Given the description of an element on the screen output the (x, y) to click on. 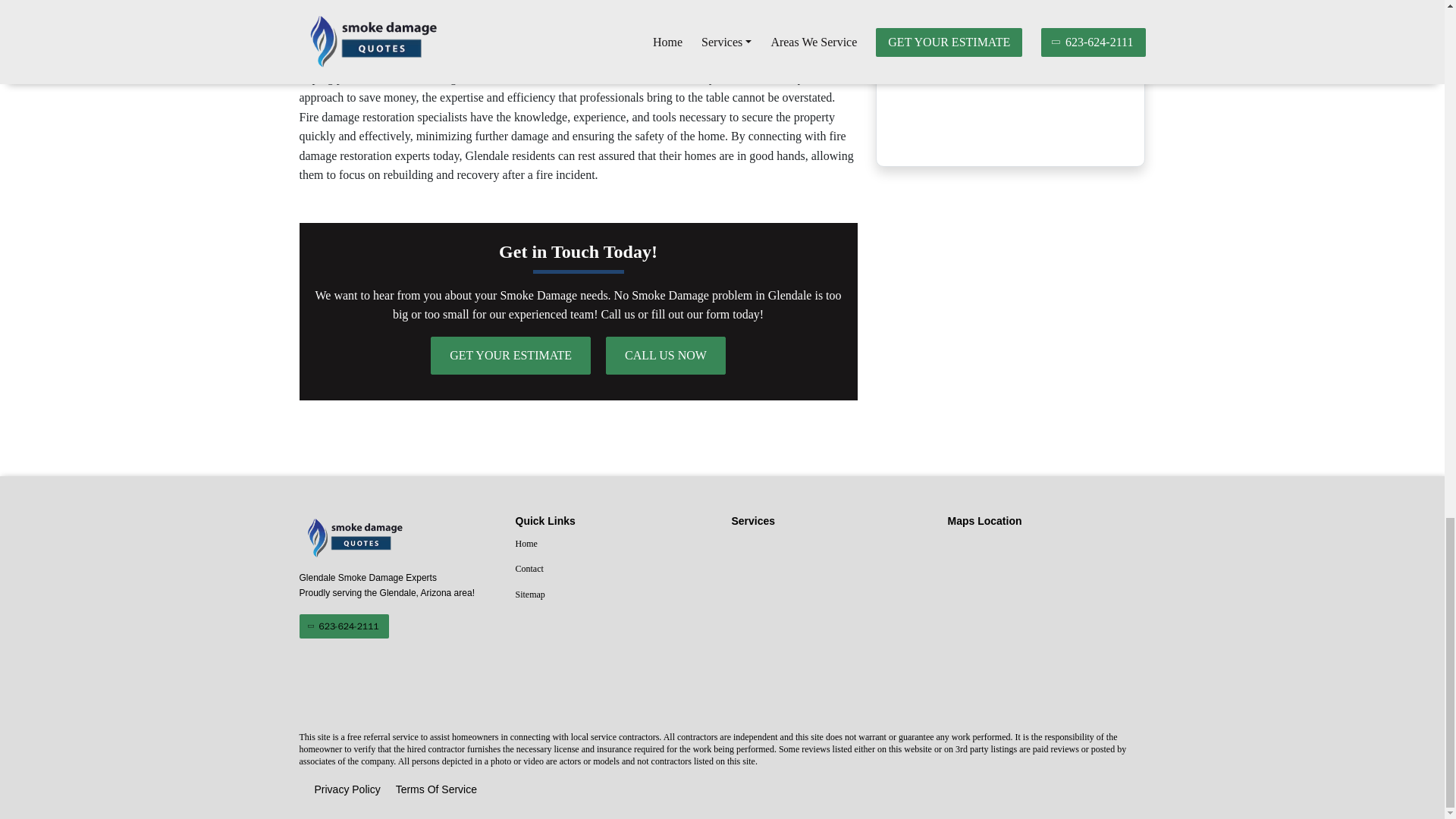
CALL US NOW (665, 355)
623-624-2111 (343, 626)
GET YOUR ESTIMATE (510, 355)
Home (614, 544)
Sitemap (614, 595)
Privacy Policy (347, 790)
Contact (614, 569)
Terms Of Service (436, 790)
